Given the description of an element on the screen output the (x, y) to click on. 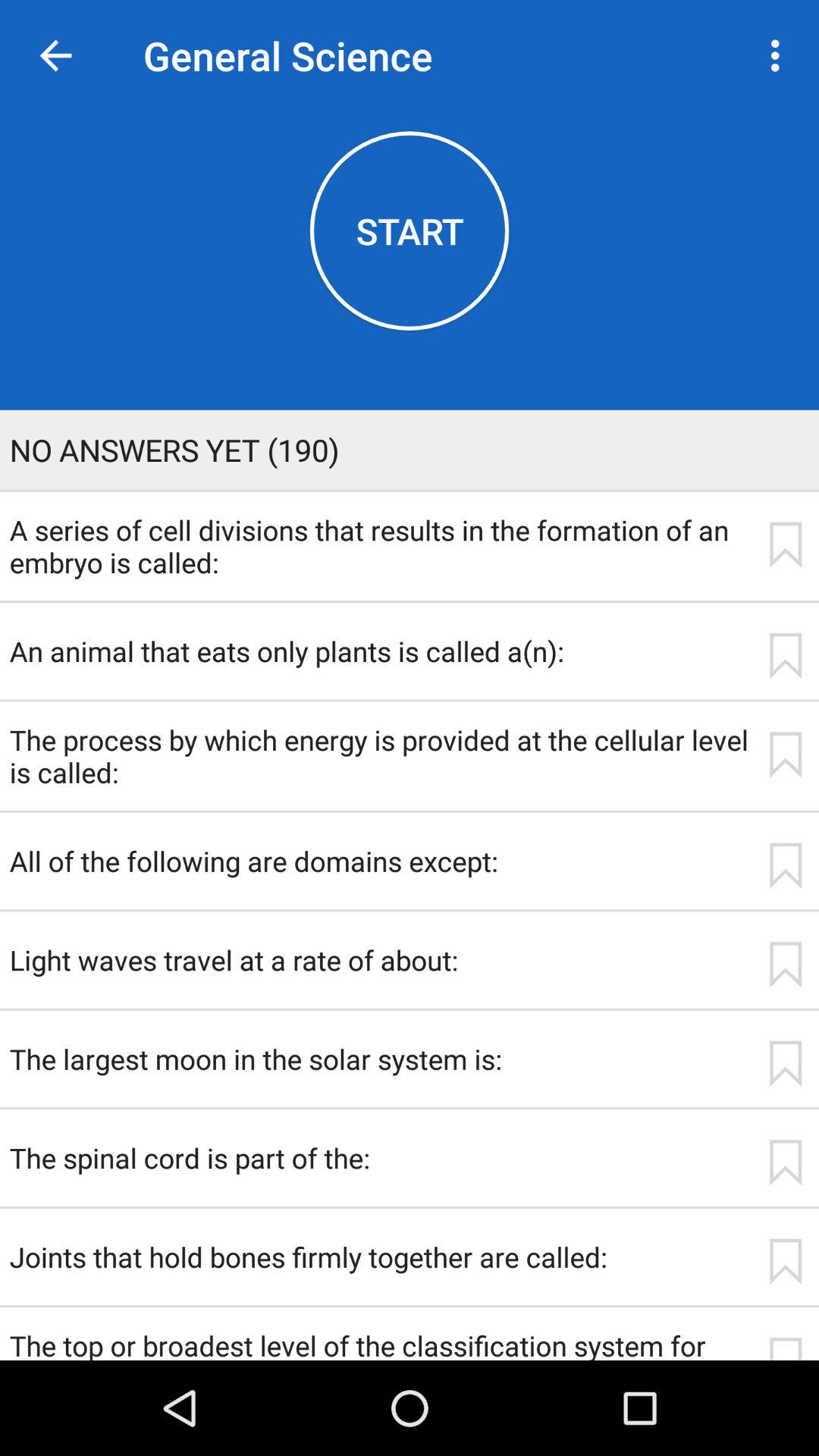
tap item next to general science item (55, 55)
